Given the description of an element on the screen output the (x, y) to click on. 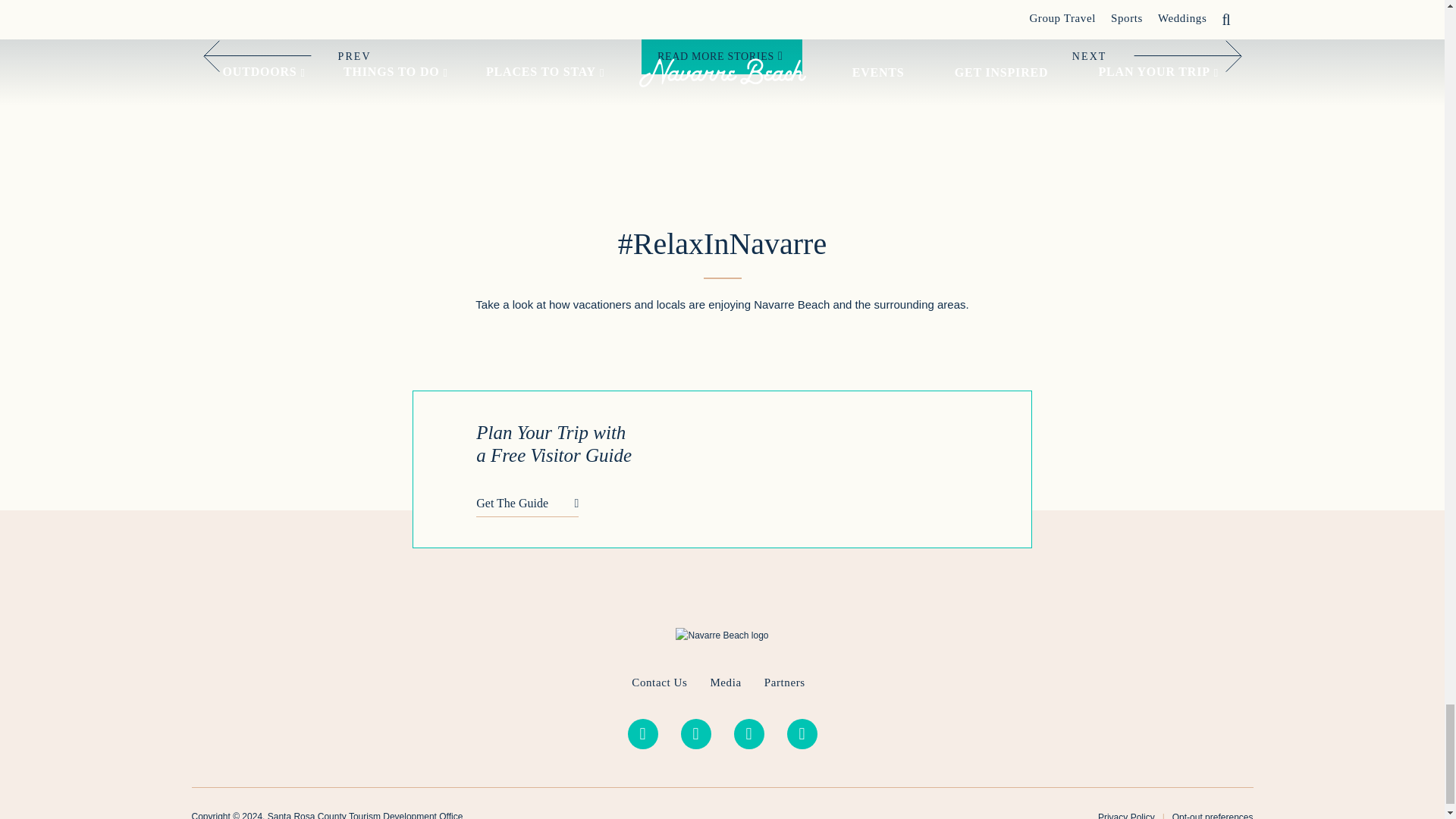
YouTube (801, 734)
Facebook (696, 734)
Instagram (642, 734)
Navarre Beach (721, 636)
Twitter (748, 734)
